Given the description of an element on the screen output the (x, y) to click on. 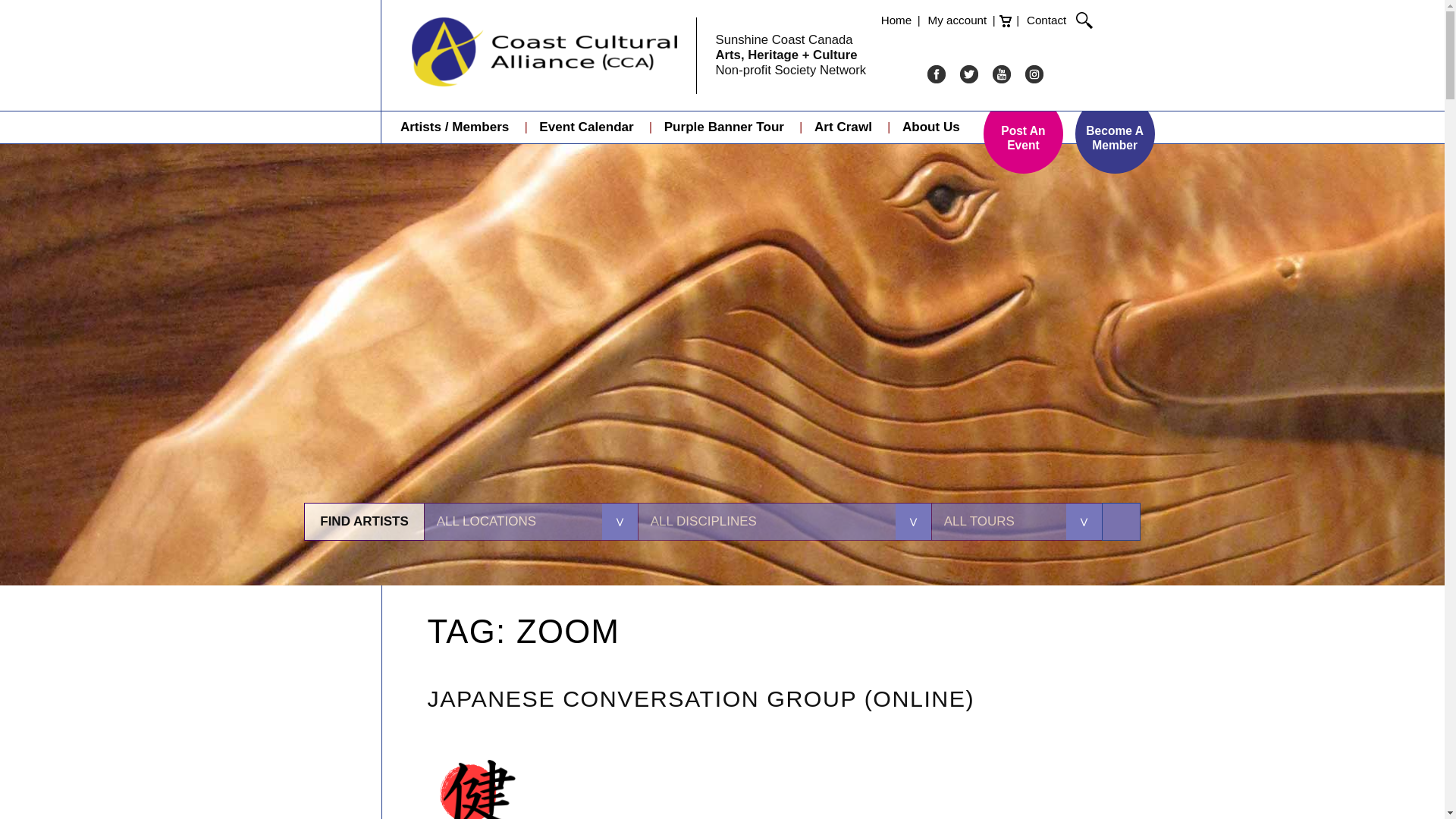
Contact (1047, 20)
Go (1121, 521)
FB (935, 74)
TW (968, 74)
Search (1084, 20)
Cart (1004, 21)
IG (1034, 74)
Home (897, 20)
My account (958, 20)
Event Calendar (585, 128)
